Given the description of an element on the screen output the (x, y) to click on. 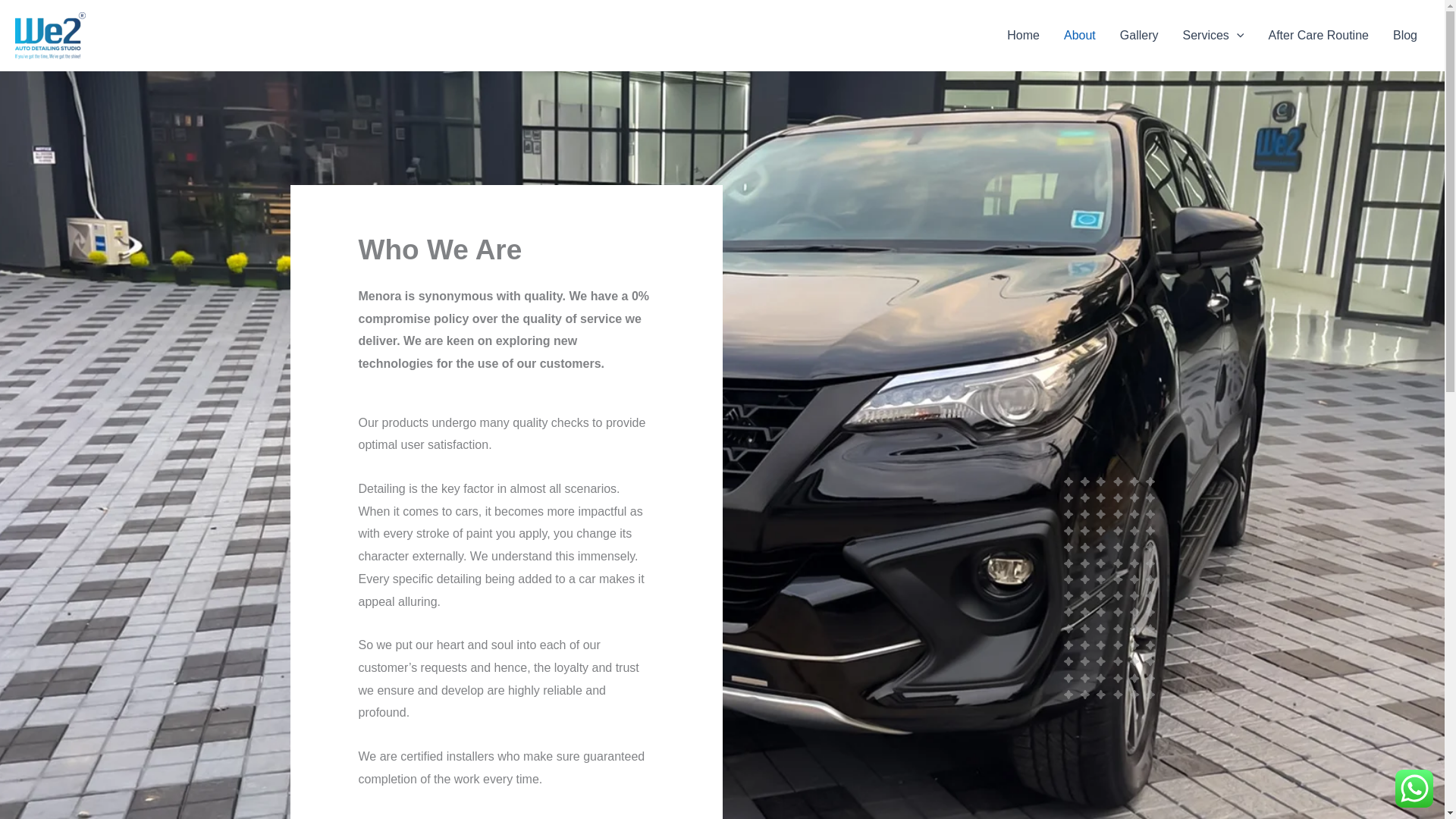
After Care Routine (1317, 35)
Home (1022, 35)
About (1079, 35)
Blog (1404, 35)
Services (1213, 35)
Gallery (1139, 35)
